Given the description of an element on the screen output the (x, y) to click on. 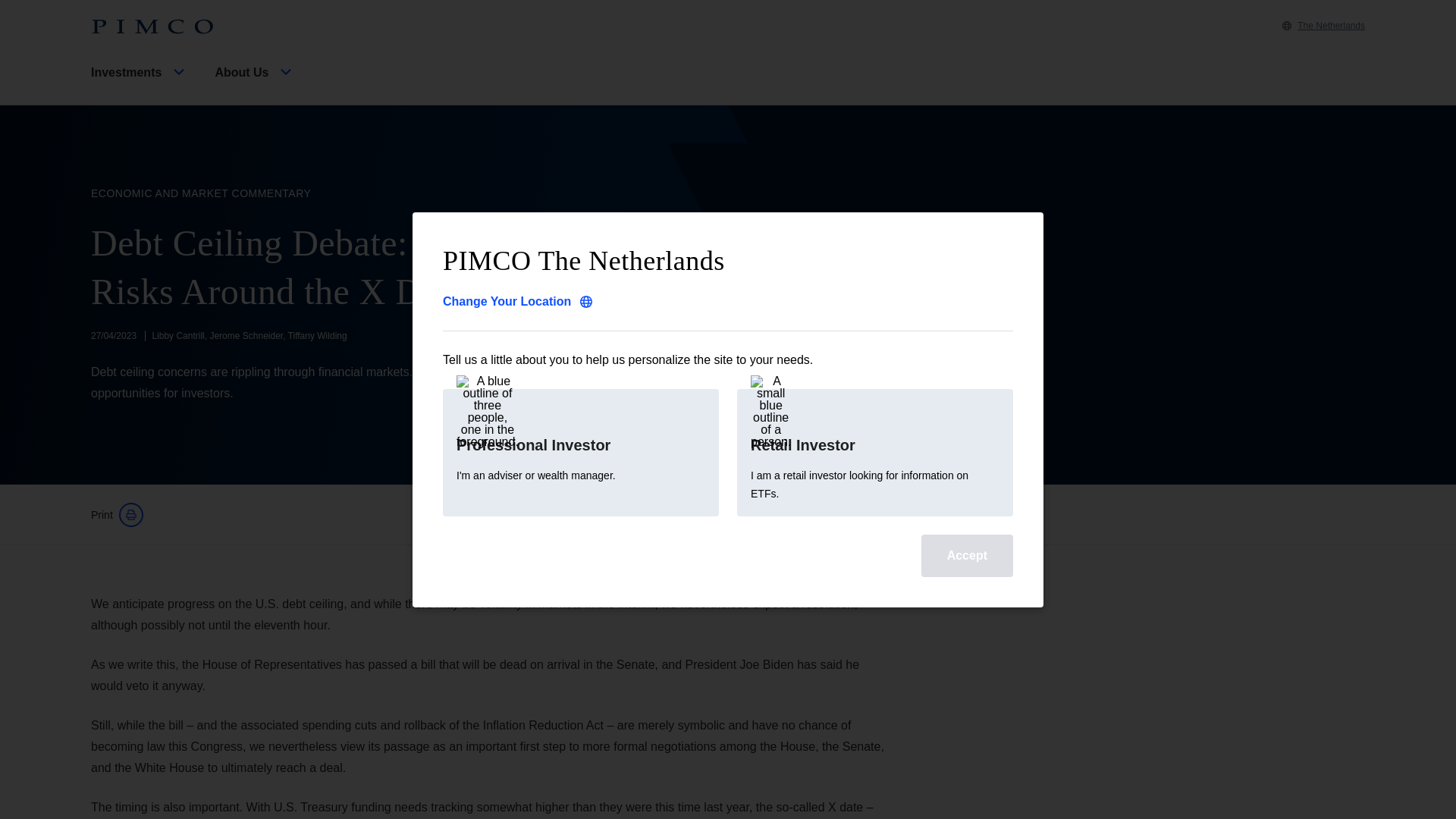
Investments (140, 84)
Print (116, 514)
PIMCO Home (152, 27)
The Netherlands (1323, 25)
About Us (255, 84)
